Given the description of an element on the screen output the (x, y) to click on. 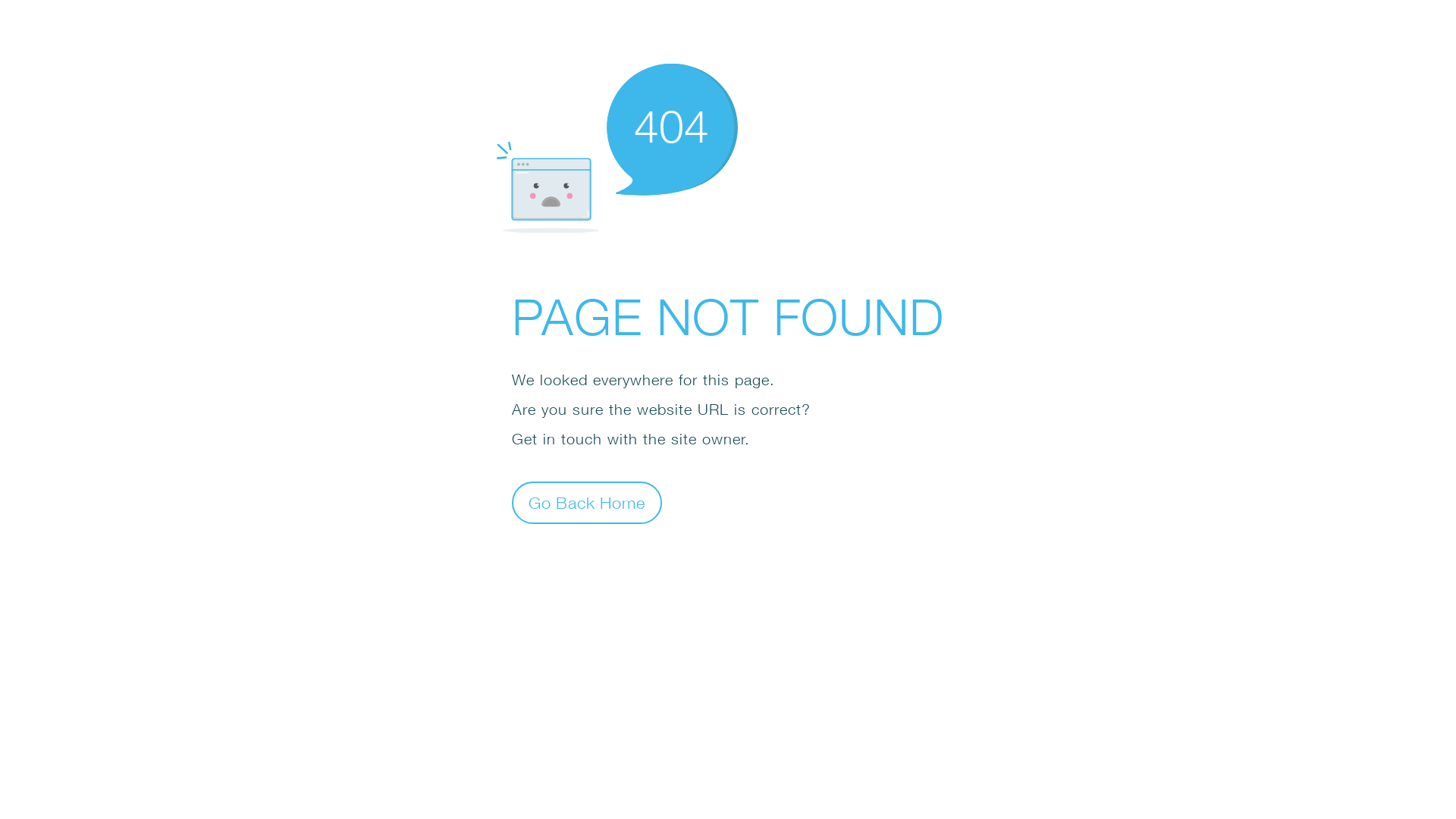
Go Back Home Element type: text (586, 502)
